Given the description of an element on the screen output the (x, y) to click on. 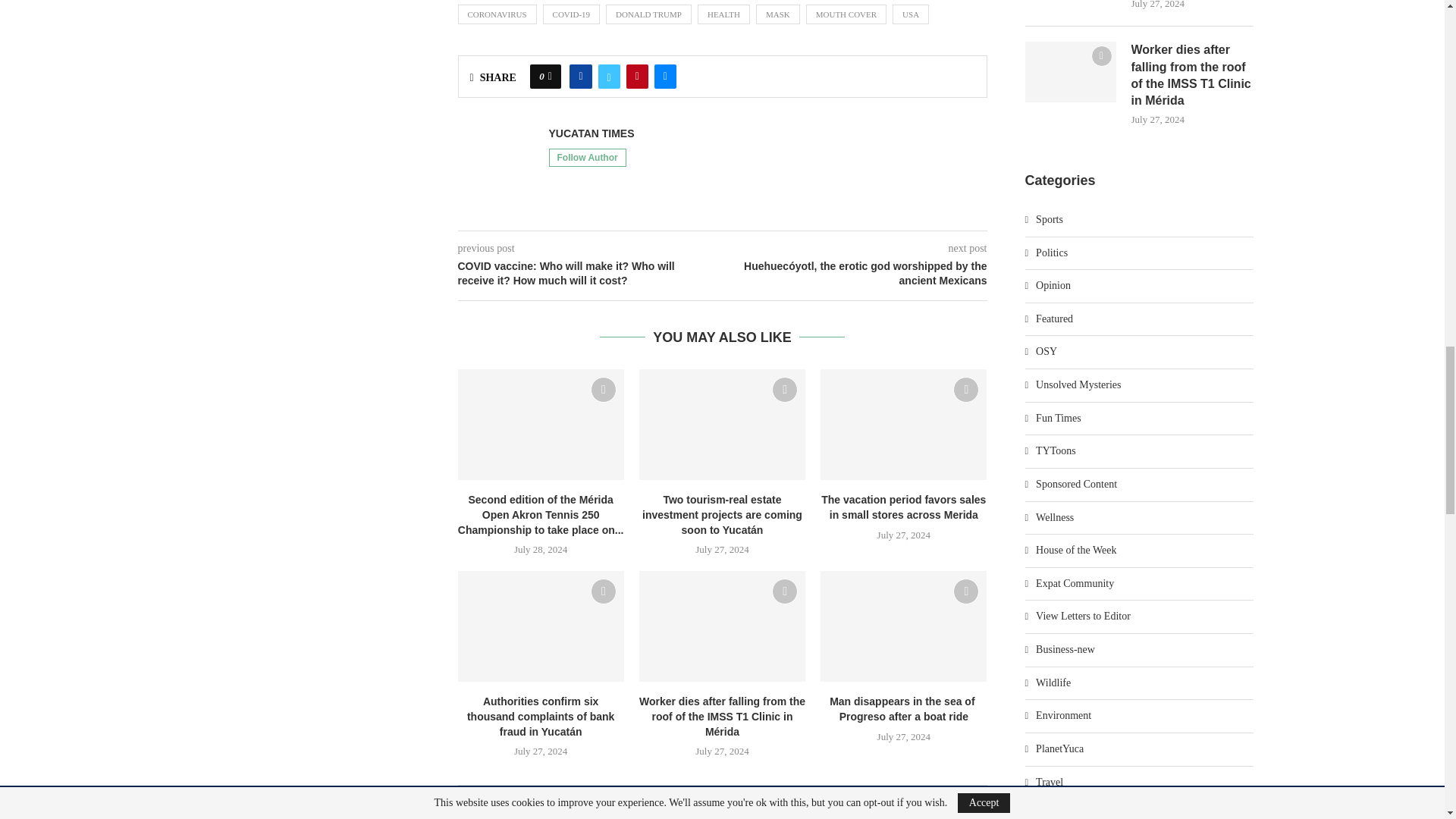
Author Yucatan Times (591, 133)
Like (549, 76)
